Given the description of an element on the screen output the (x, y) to click on. 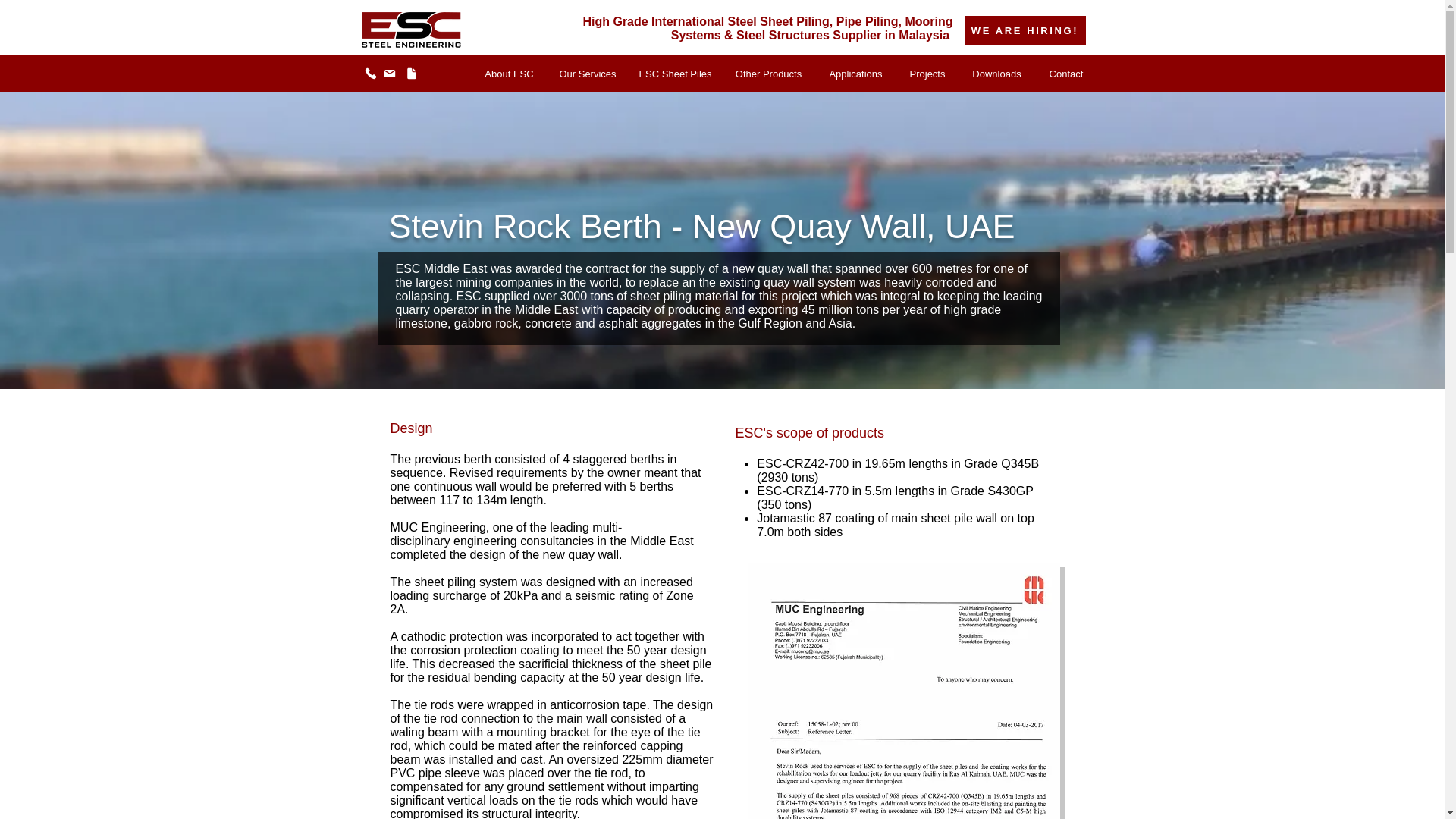
WE ARE HIRING! (1024, 30)
Applications (854, 73)
ESC Sheet Piles (674, 73)
